Given the description of an element on the screen output the (x, y) to click on. 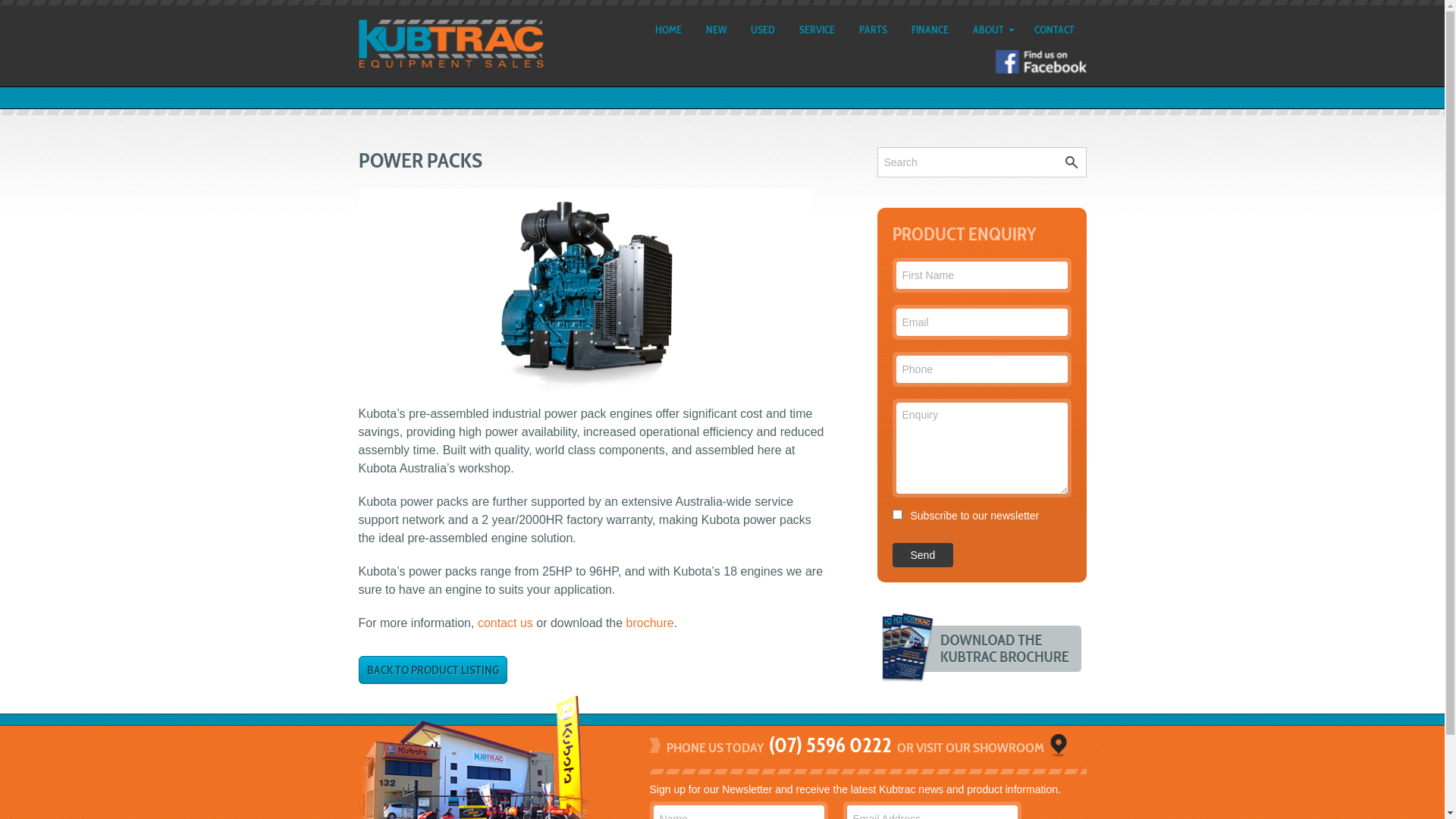
brochure Element type: text (650, 622)
contact us Element type: text (505, 622)
Send Element type: text (922, 554)
USED Element type: text (762, 29)
PARTS Element type: text (872, 29)
HOME Element type: text (668, 29)
BACK TO PRODUCT LISTING Element type: text (431, 669)
SERVICE Element type: text (817, 29)
FINANCE Element type: text (929, 29)
NEW Element type: text (715, 29)
ABOUT Element type: text (990, 29)
CONTACT Element type: text (1054, 29)
